Given the description of an element on the screen output the (x, y) to click on. 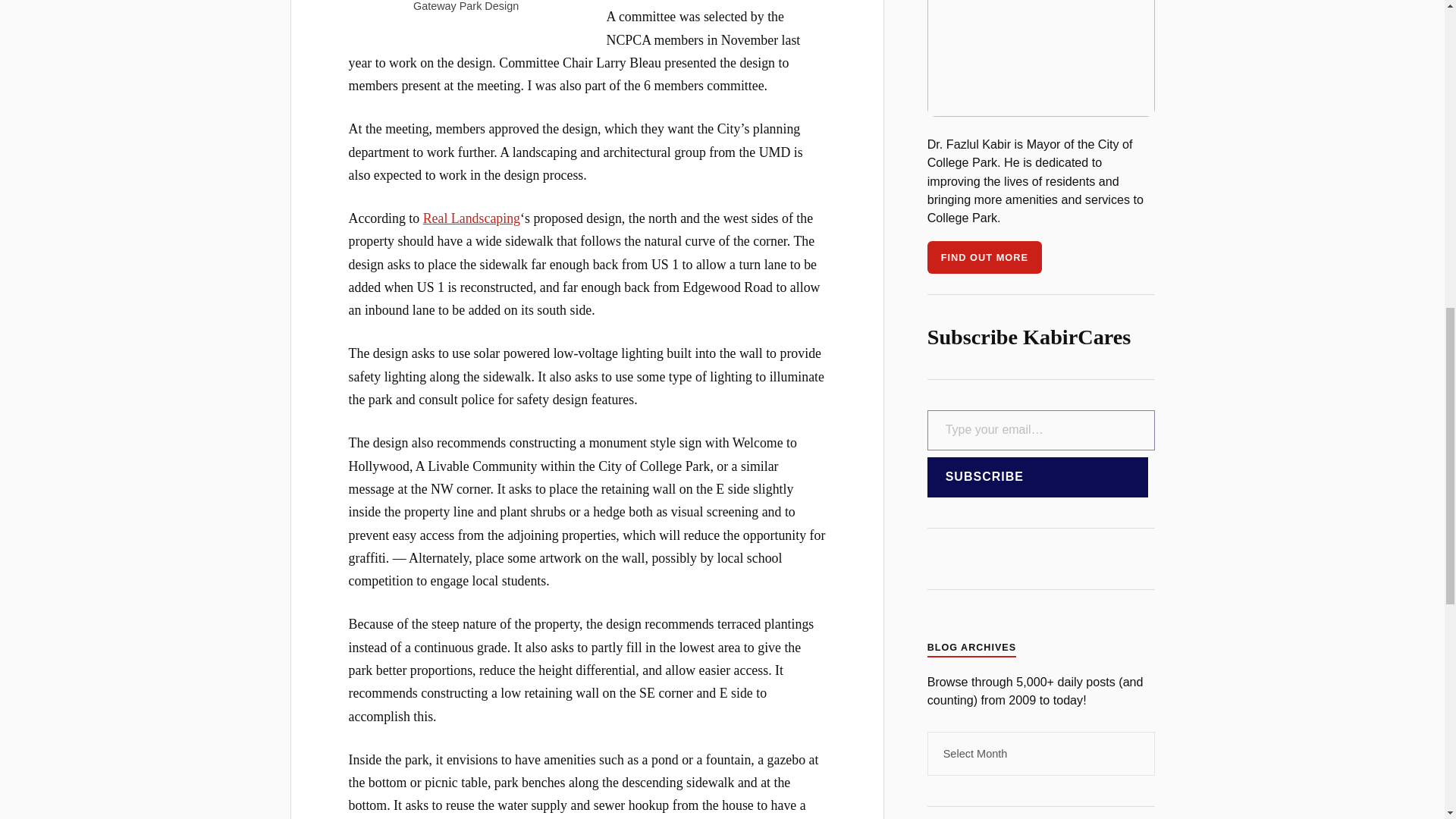
Please fill in this field. (1040, 430)
FIND OUT MORE (984, 256)
Real Landscaping (471, 218)
SUBSCRIBE (1037, 477)
